Given the description of an element on the screen output the (x, y) to click on. 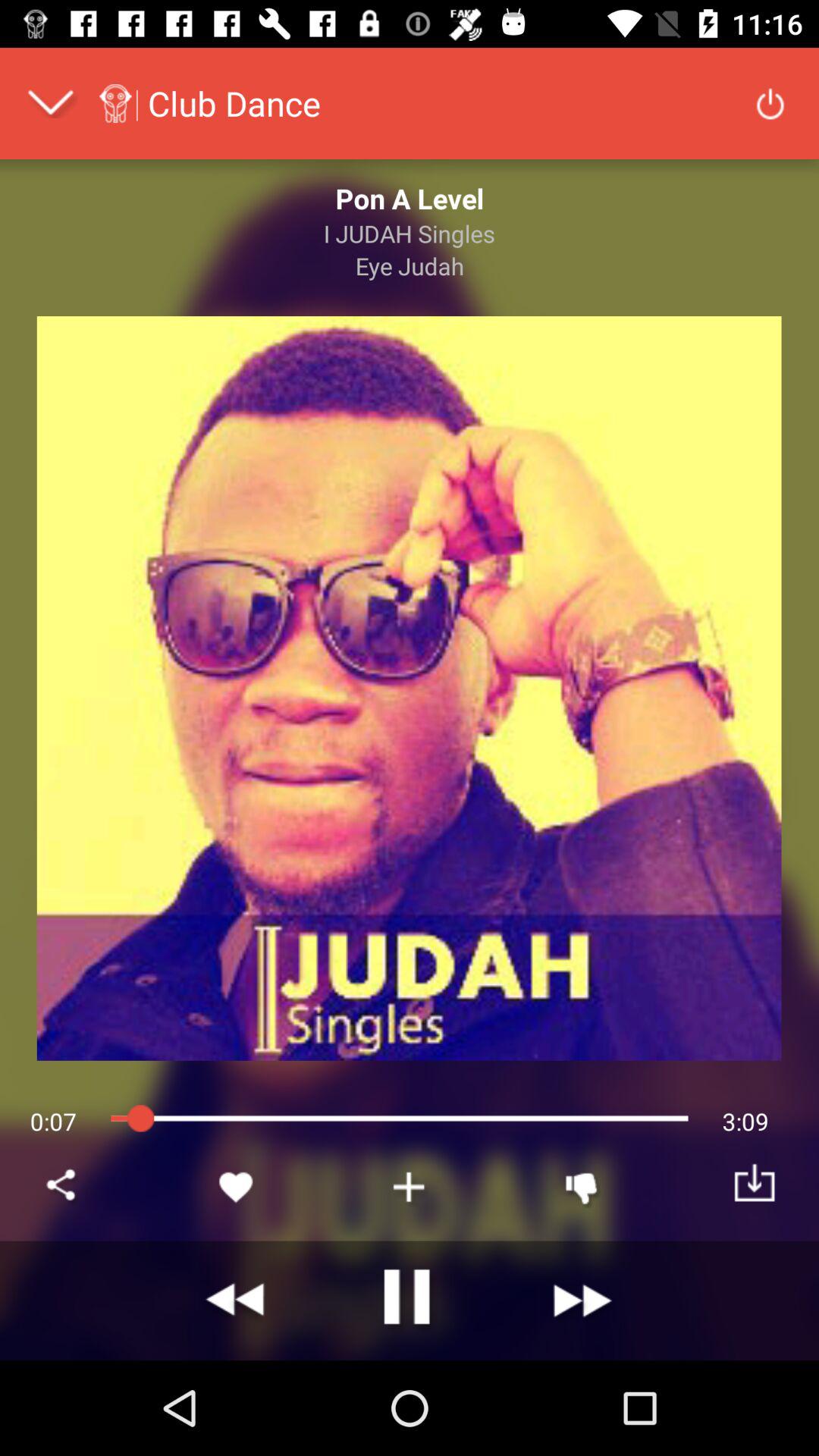
like song (236, 1186)
